Given the description of an element on the screen output the (x, y) to click on. 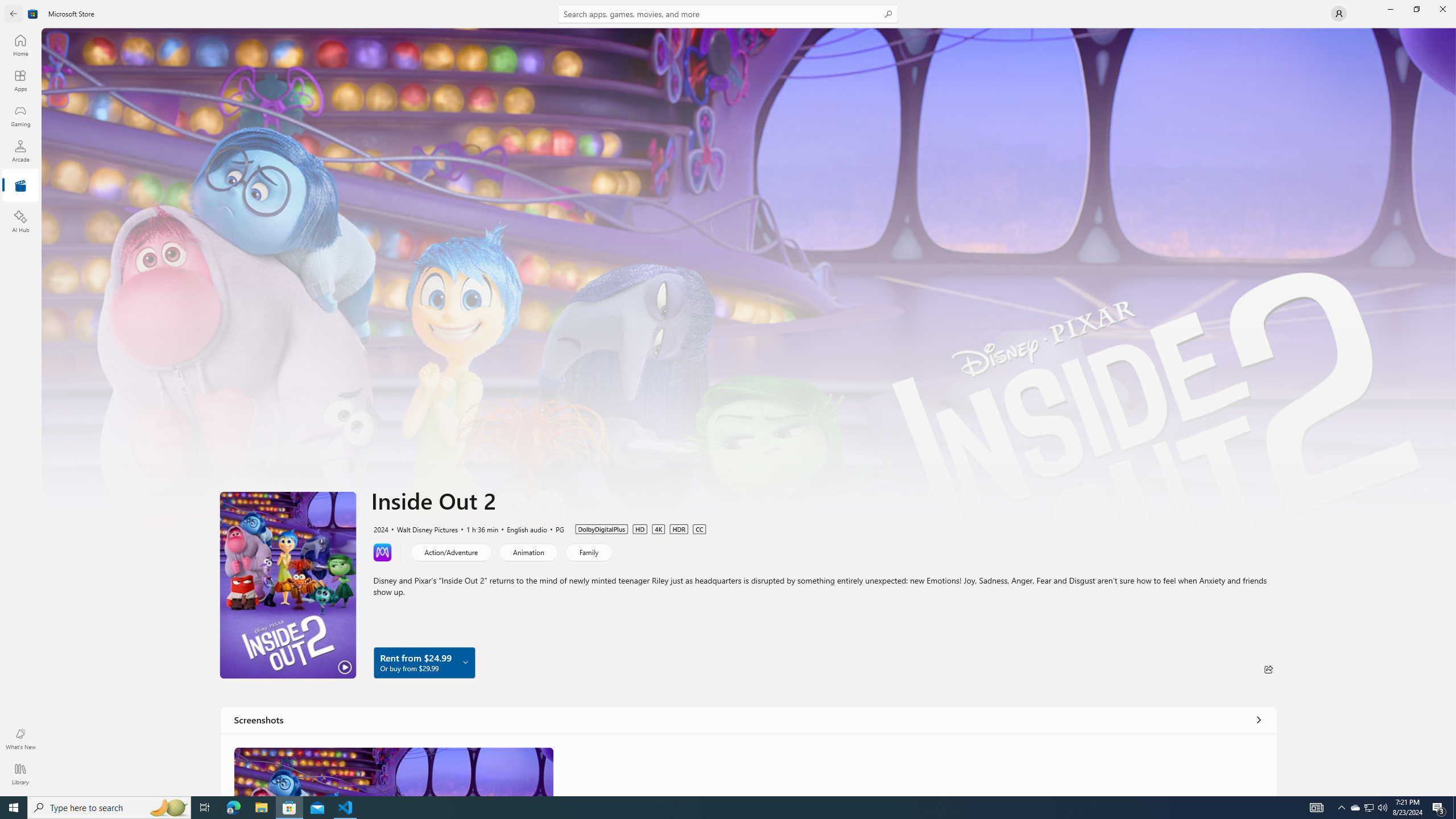
Play Trailer (287, 584)
Learn more about Movies Anywhere (381, 551)
Animation (528, 551)
Search (727, 13)
Class: ListViewItem (393, 771)
Share (1267, 669)
Walt Disney Pictures (422, 528)
2024 (379, 528)
PG (554, 528)
